Given the description of an element on the screen output the (x, y) to click on. 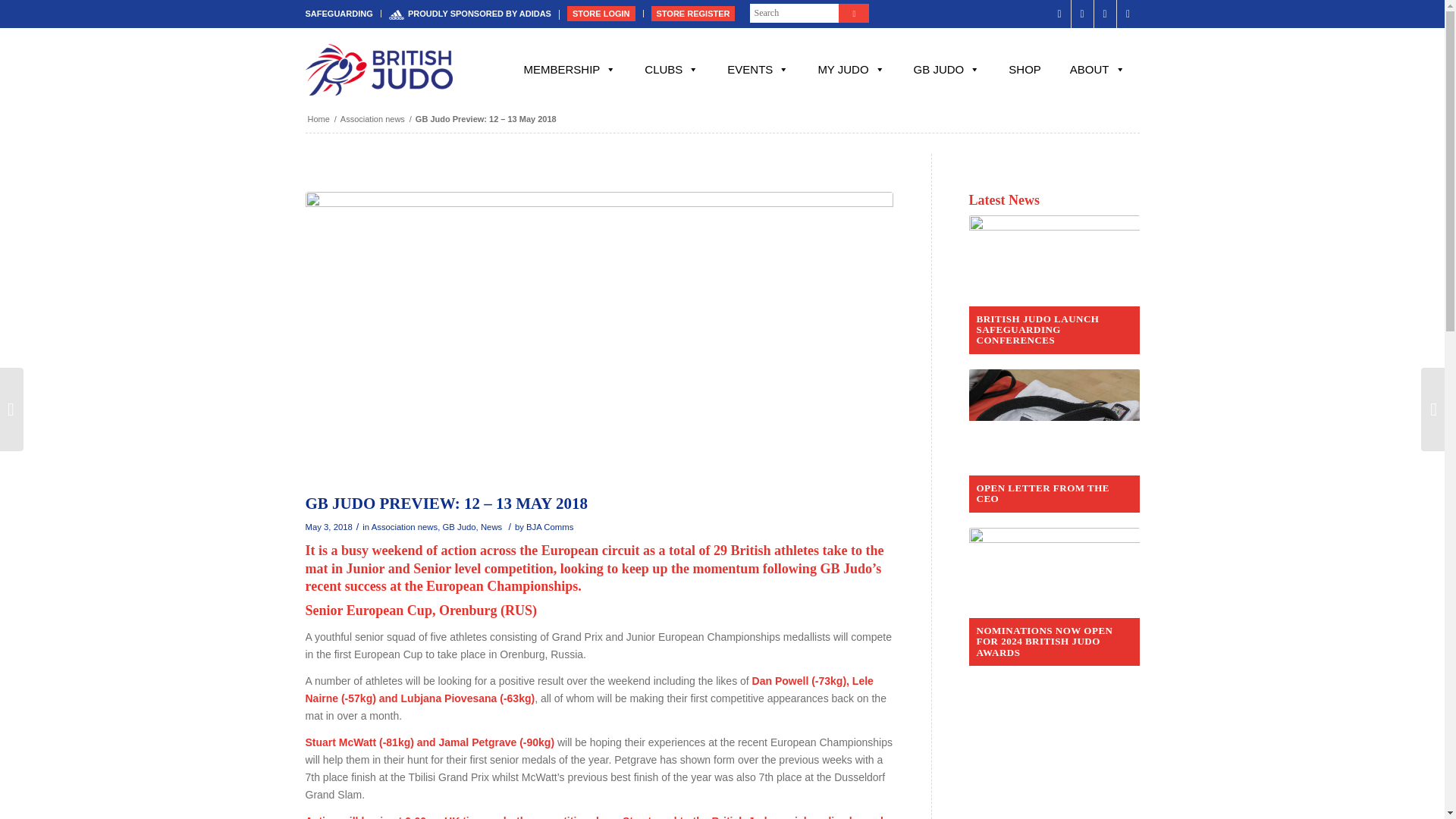
SAFEGUARDING (338, 13)
MY JUDO (850, 69)
CLUBS (671, 69)
PROUDLY SPONSORED BY ADIDAS (469, 13)
STORE REGISTER (692, 13)
British Judo (317, 119)
Posts by BJA Comms (549, 526)
STORE LOGIN (600, 13)
EVENTS (758, 69)
MEMBERSHIP (569, 69)
